Given the description of an element on the screen output the (x, y) to click on. 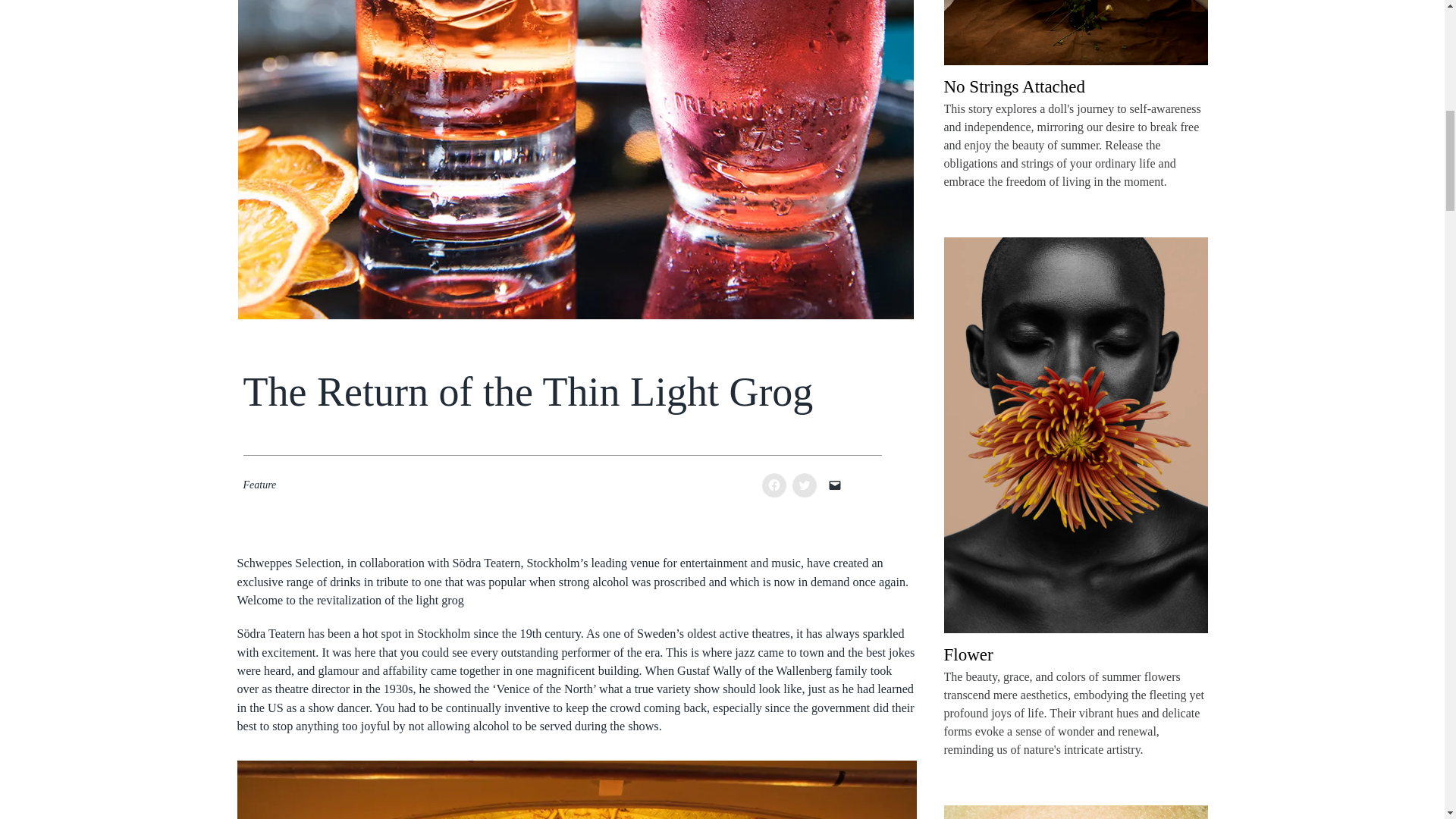
Click to share on Twitter (804, 485)
Click to email a link to a friend (834, 485)
No Strings Attached (1013, 88)
Click to share on Facebook (773, 485)
Feature (259, 484)
